Given the description of an element on the screen output the (x, y) to click on. 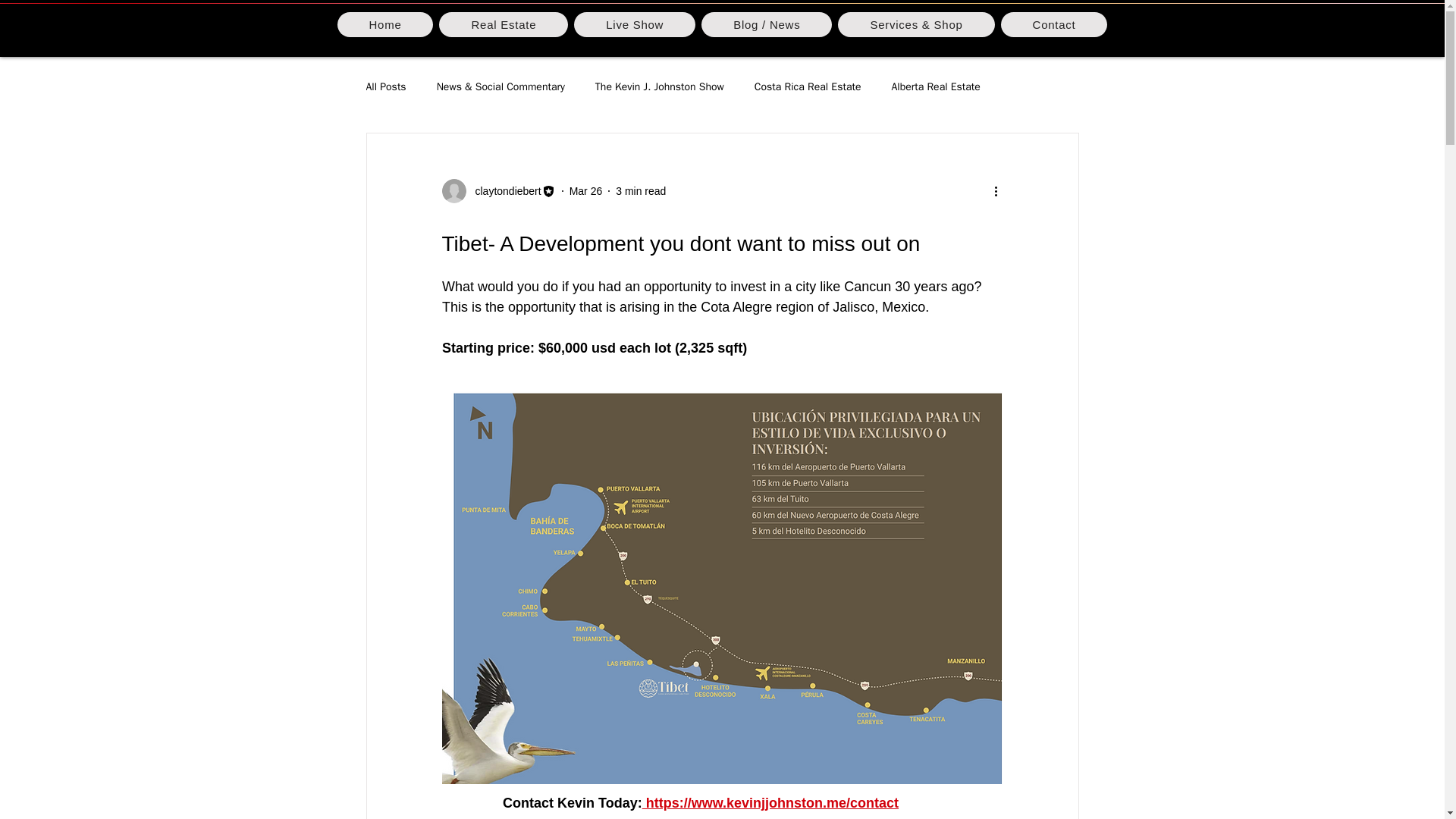
Home (384, 24)
All Posts (385, 87)
Mar 26 (585, 191)
claytondiebert (497, 191)
claytondiebert (502, 191)
Alberta Real Estate (935, 87)
The Kevin J. Johnston Show (659, 87)
Live Show (634, 24)
3 min read (640, 191)
Real Estate (503, 24)
Contact (1054, 24)
Costa Rica Real Estate (807, 87)
